Given the description of an element on the screen output the (x, y) to click on. 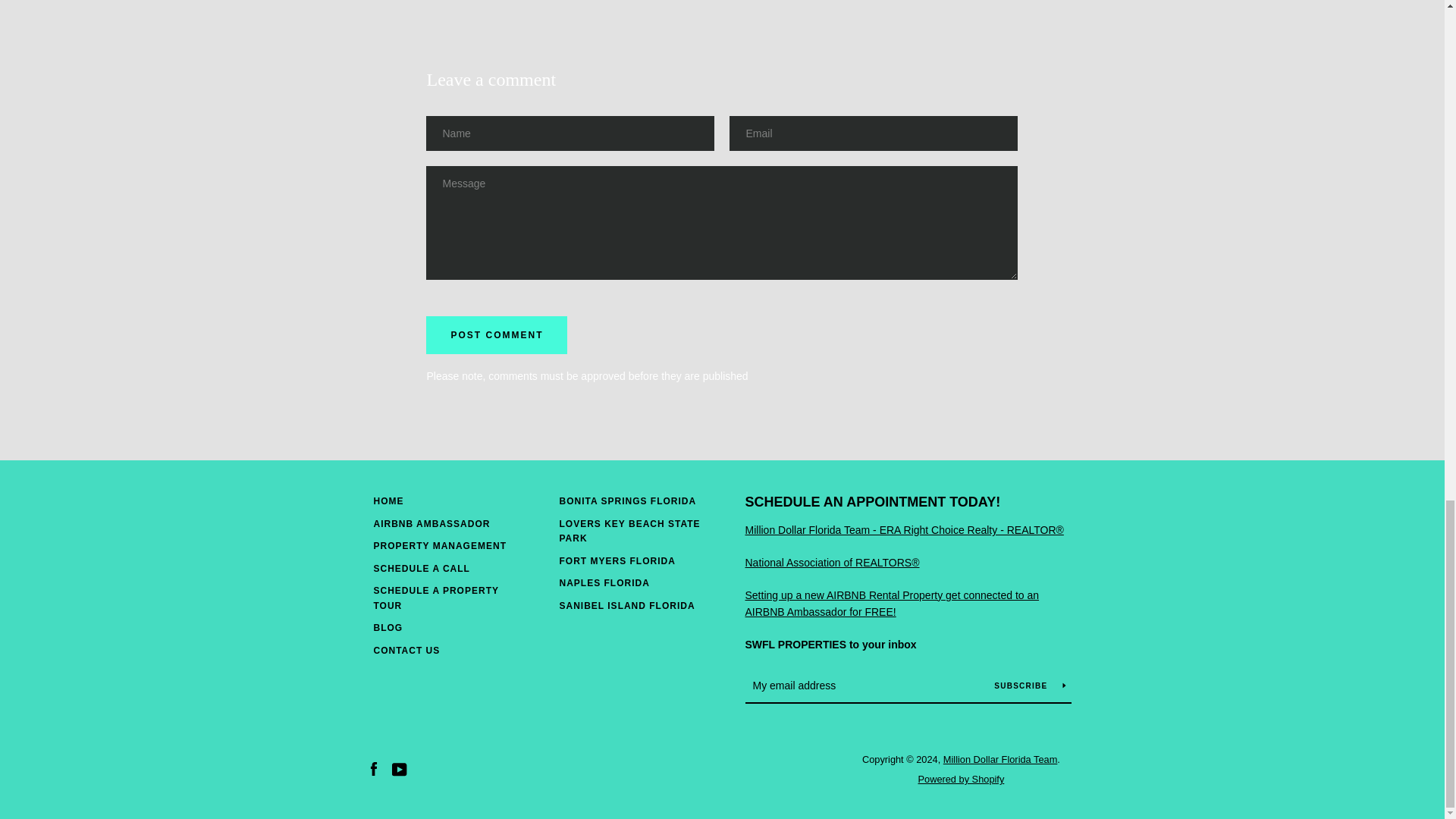
Post comment (496, 334)
SANIBEL ISLAND FLORIDA (627, 605)
FORT MYERS FLORIDA (617, 561)
SUBSCRIBE (1029, 685)
NAPLES FLORIDA (604, 583)
PROPERTY MANAGEMENT (438, 545)
CONTACT US (405, 650)
ERA Right Choice Realty (903, 530)
BONITA SPRINGS FLORIDA (628, 501)
HOME (387, 501)
LOVERS KEY BEACH STATE PARK (629, 531)
Post comment (496, 334)
SCHEDULE A PROPERTY TOUR (434, 597)
AIRBNB AMBASSADOR (430, 523)
